Given the description of an element on the screen output the (x, y) to click on. 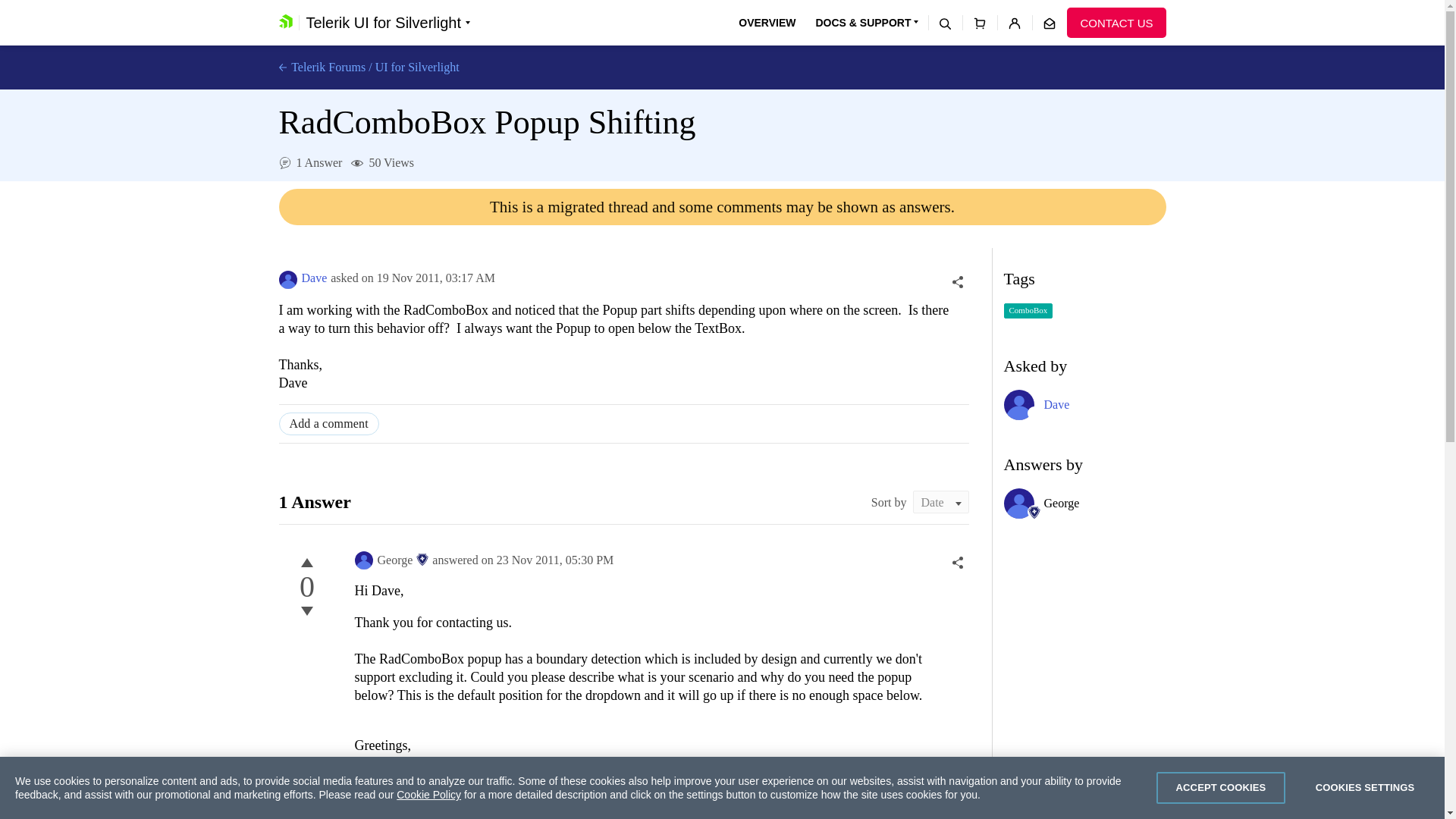
This answer is not helpful. (306, 610)
This answer is helpful. (306, 562)
Telerik UI for Silverlight (387, 22)
ComboBox (1028, 310)
SKIP NAVIGATION (339, 7)
OVERVIEW (766, 22)
